Given the description of an element on the screen output the (x, y) to click on. 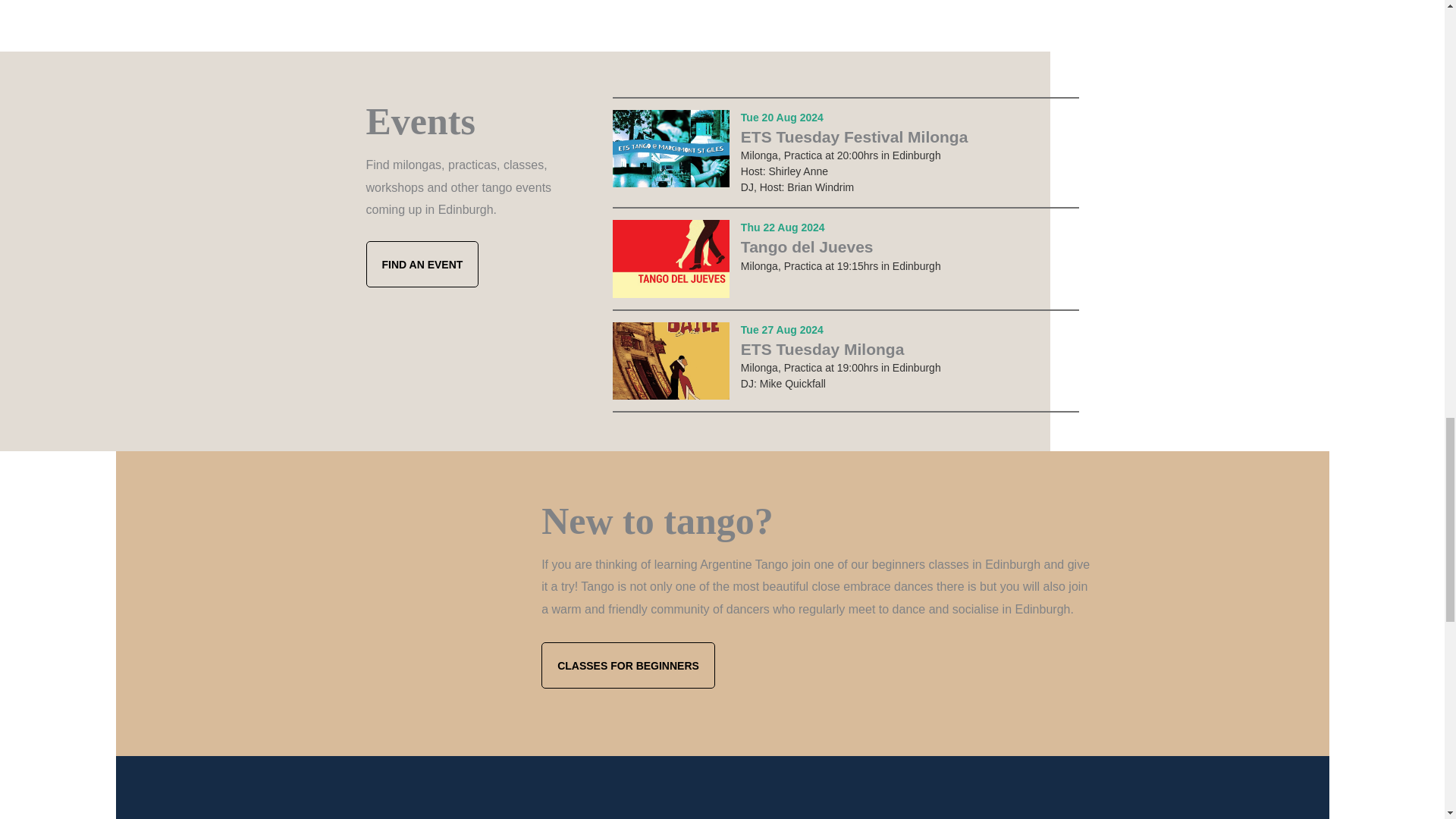
FIND AN EVENT (422, 263)
CLASSES FOR BEGINNERS (627, 665)
